Given the description of an element on the screen output the (x, y) to click on. 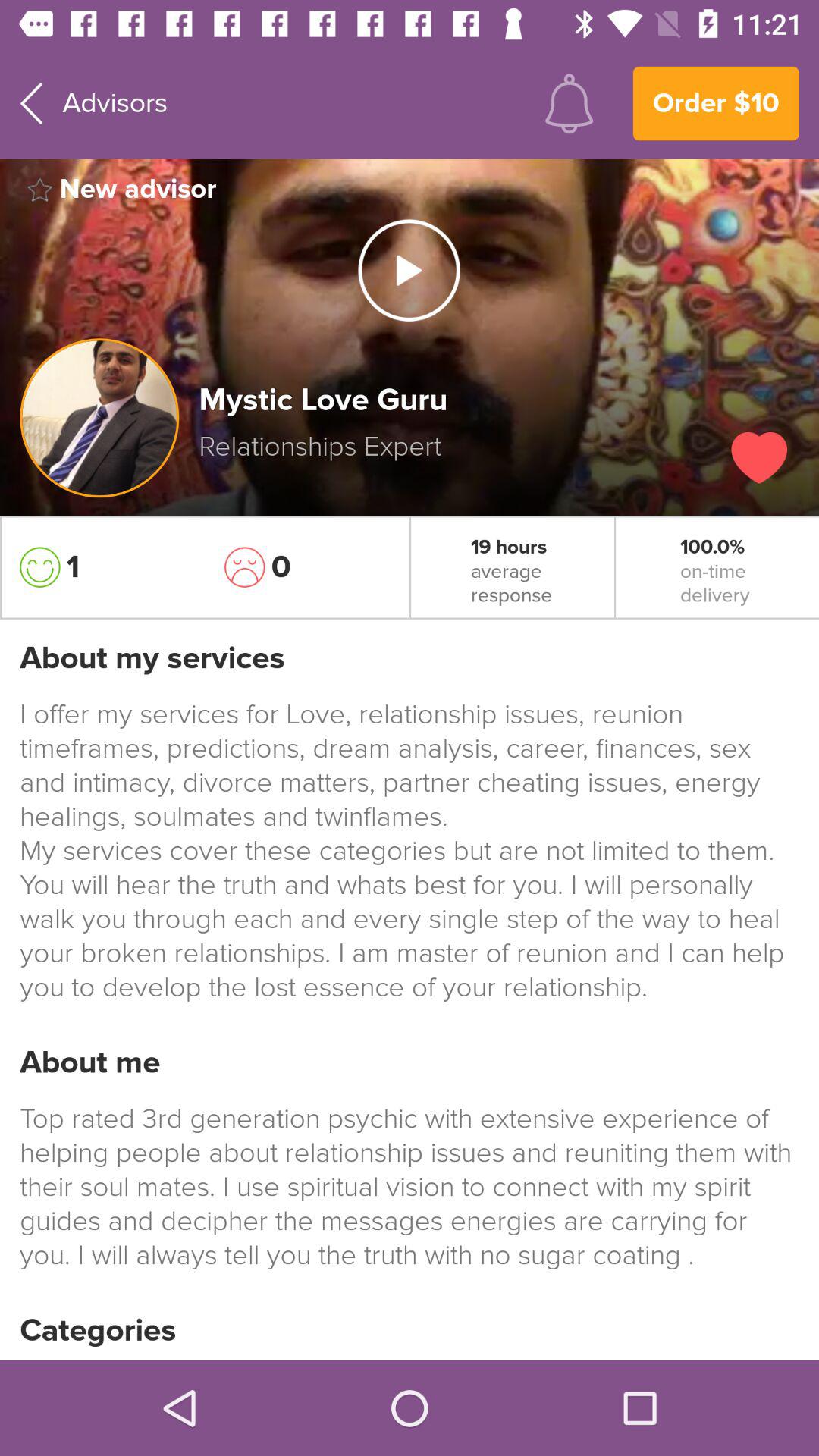
like this profile (759, 457)
